Given the description of an element on the screen output the (x, y) to click on. 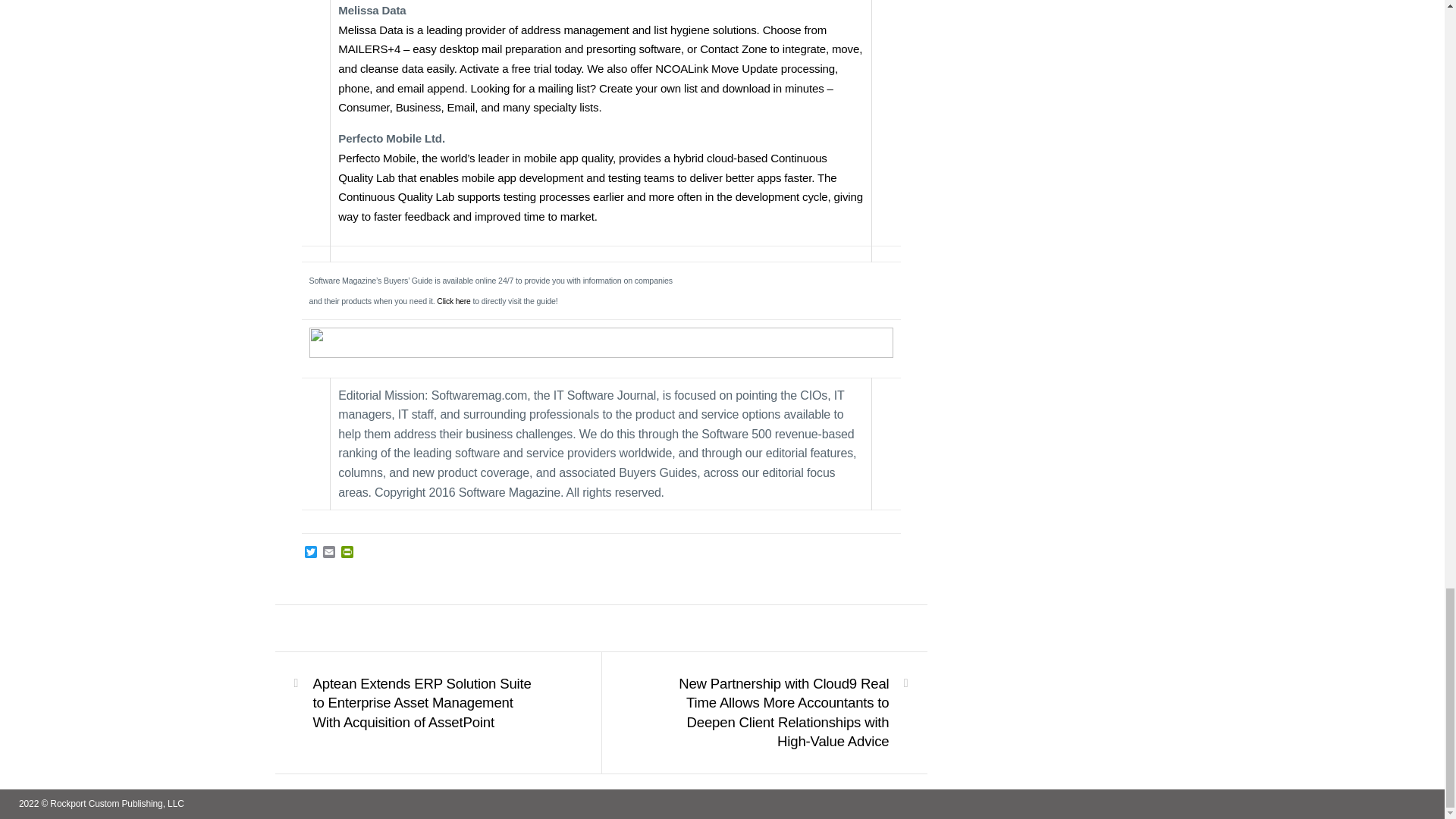
Email (328, 553)
Previous (428, 702)
Next (773, 712)
PrintFriendly (346, 553)
Twitter (310, 553)
